Given the description of an element on the screen output the (x, y) to click on. 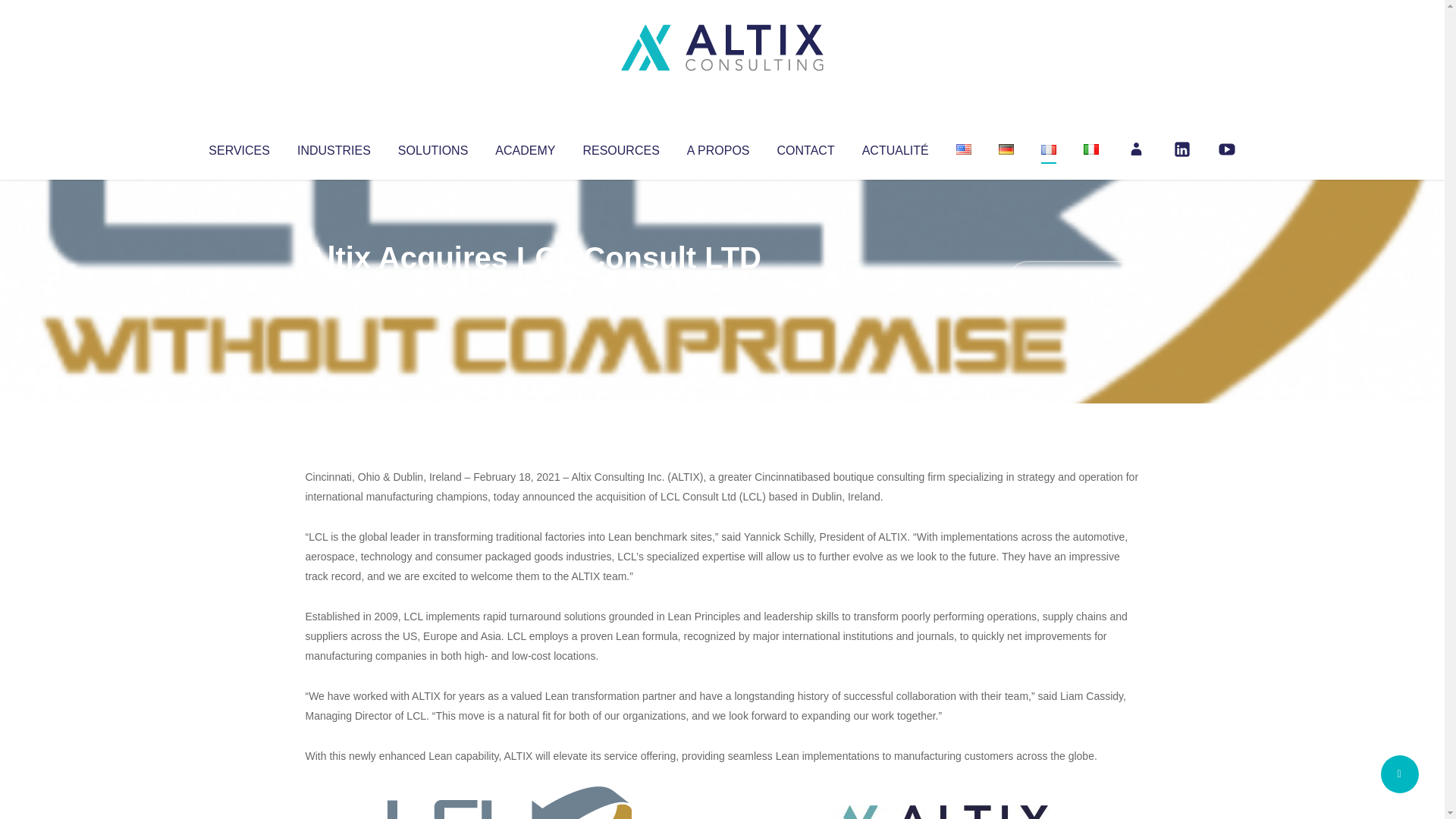
Uncategorized (530, 287)
RESOURCES (620, 146)
Articles par Altix (333, 287)
No Comments (1073, 278)
SERVICES (238, 146)
ACADEMY (524, 146)
A PROPOS (718, 146)
INDUSTRIES (334, 146)
SOLUTIONS (432, 146)
Altix (333, 287)
